Given the description of an element on the screen output the (x, y) to click on. 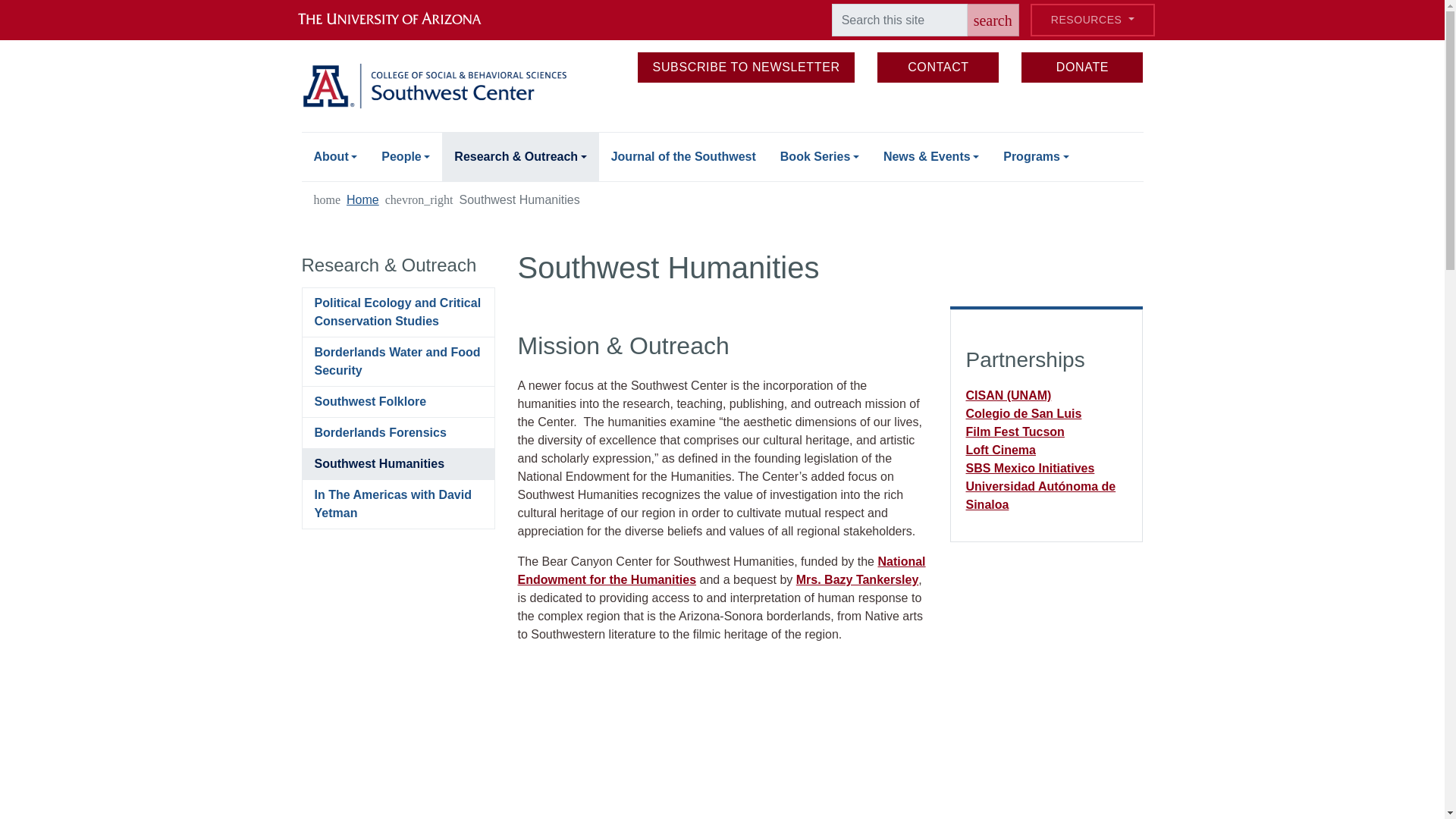
Book Series (819, 156)
Skip to main content (721, 1)
CONTACT (937, 67)
Journal of the Southwest (683, 156)
Enter the terms you wish to search for. (899, 20)
Contact Us (937, 67)
Bear Canyon Center for Southwest Humanities (829, 746)
RESOURCES (1092, 20)
People (405, 156)
About (335, 156)
SUBSCRIBE TO NEWSLETTER (746, 67)
DONATE (1082, 67)
search (992, 20)
The University of Arizona homepage (401, 20)
